Given the description of an element on the screen output the (x, y) to click on. 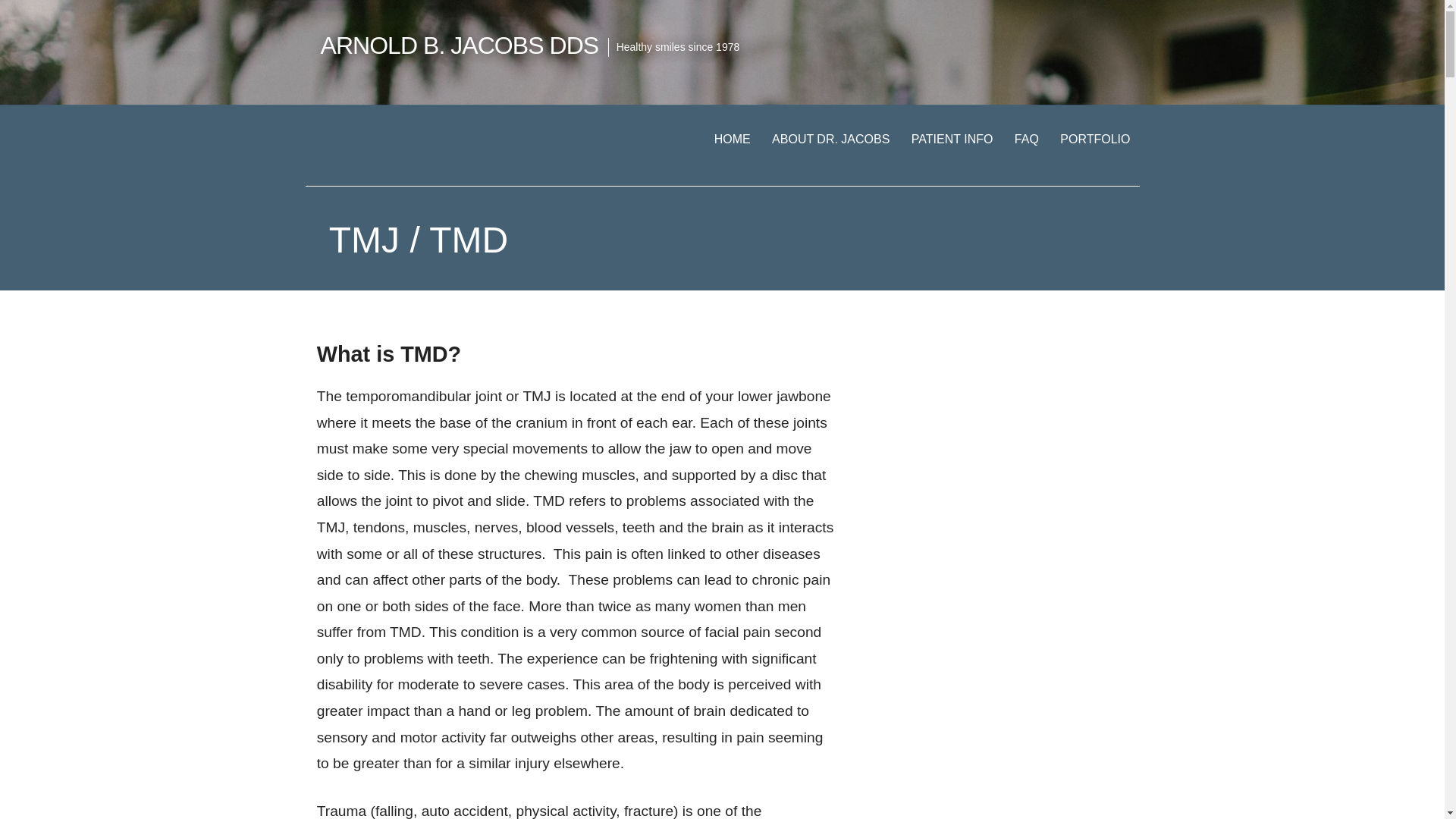
ARNOLD B. JACOBS DDS (459, 44)
ABOUT DR. JACOBS (830, 138)
PORTFOLIO (1094, 138)
PATIENT INFO (952, 138)
